Given the description of an element on the screen output the (x, y) to click on. 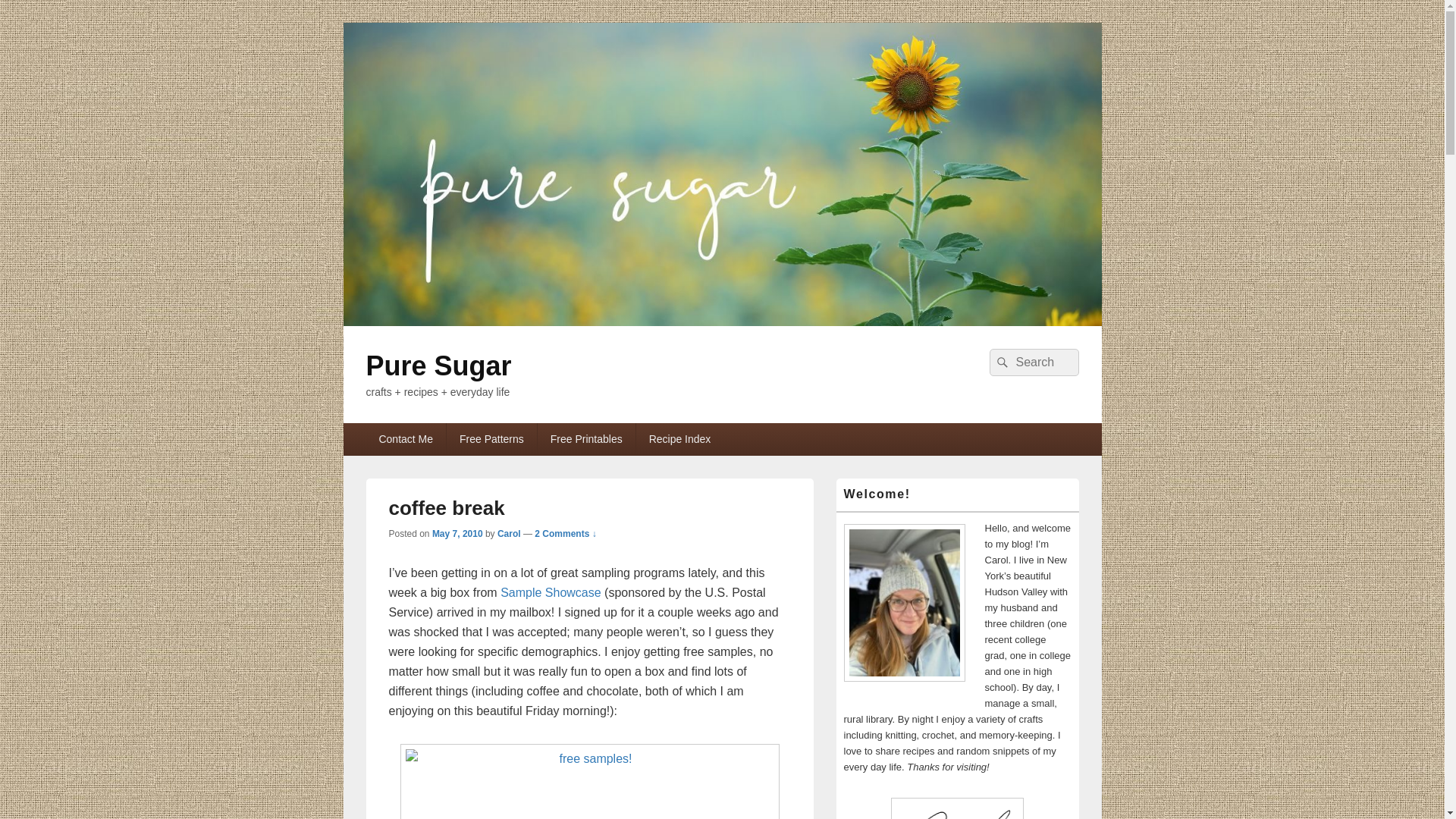
free samples! by -clb-, on Flickr (589, 781)
Pure Sugar (438, 365)
Carol (509, 533)
Free Printables (585, 439)
Free Patterns (491, 439)
View all posts by Carol (509, 533)
Sample Showcase (550, 592)
May 7, 2010 (457, 533)
Pure Sugar (721, 321)
10:40 am (457, 533)
Recipe Index (679, 439)
Contact Me (405, 439)
Search for: (1033, 361)
